Given the description of an element on the screen output the (x, y) to click on. 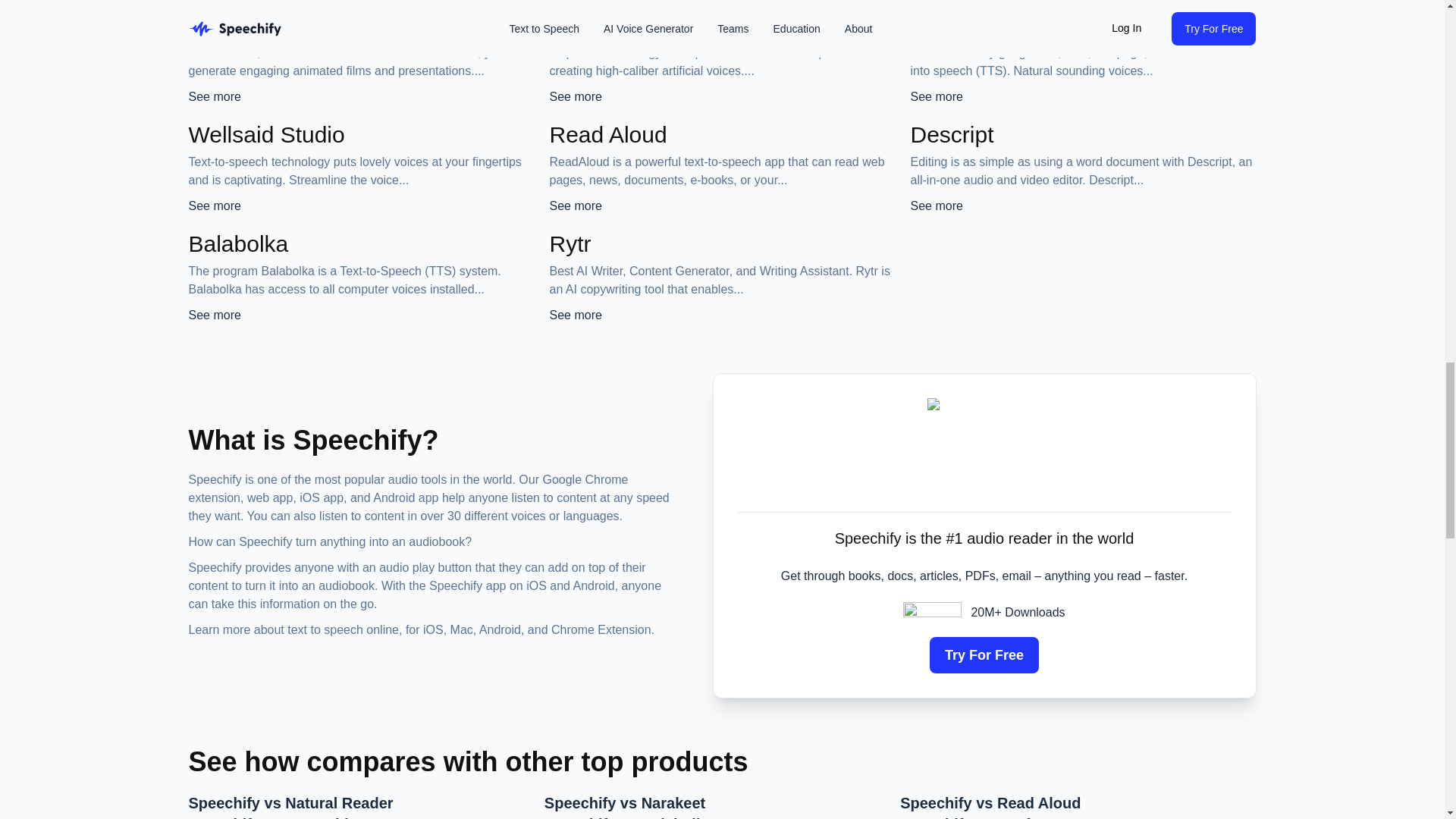
Resemble AI (613, 25)
See more (213, 96)
Wideo (219, 25)
See more (574, 96)
